Given the description of an element on the screen output the (x, y) to click on. 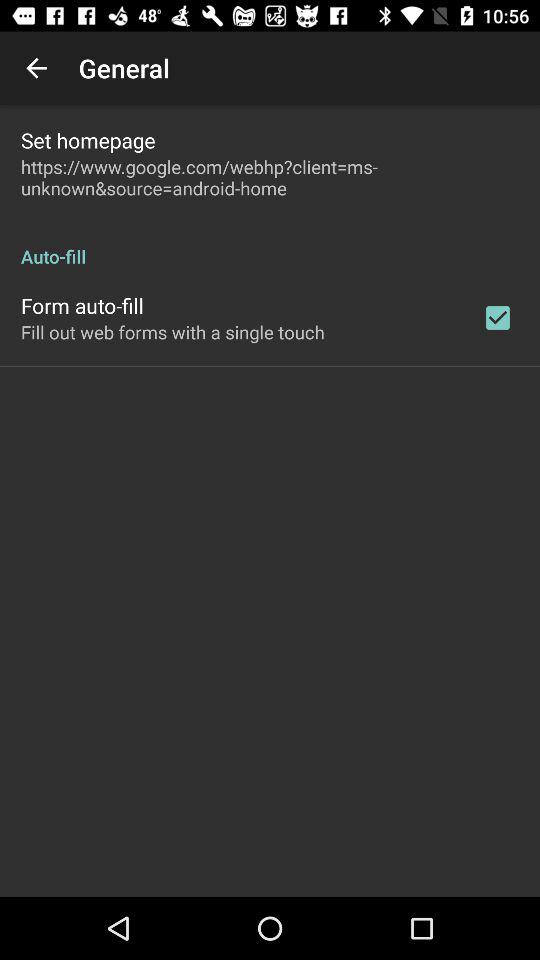
launch set homepage (88, 139)
